Given the description of an element on the screen output the (x, y) to click on. 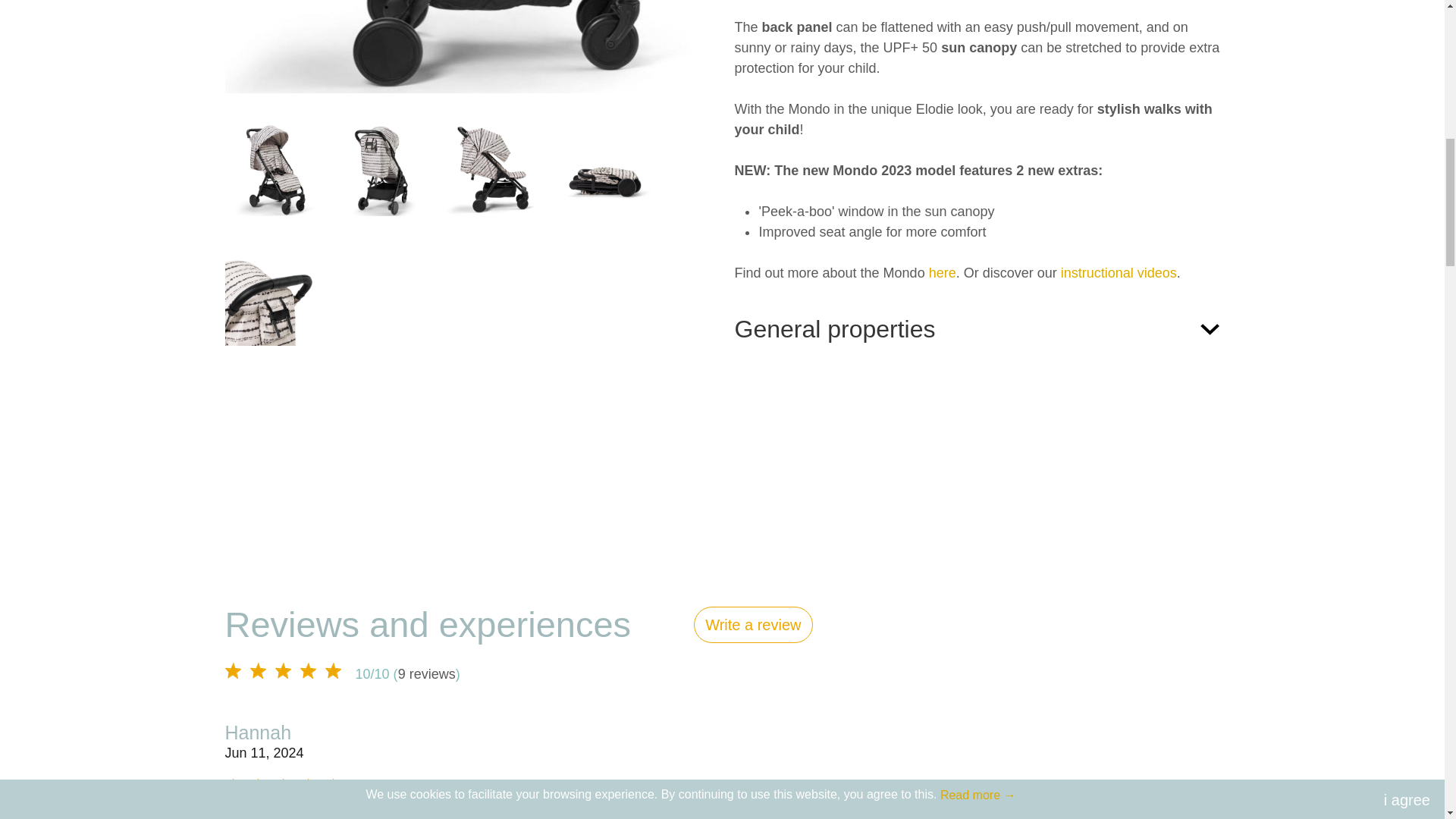
here (942, 272)
instructional videos (1118, 272)
